Given the description of an element on the screen output the (x, y) to click on. 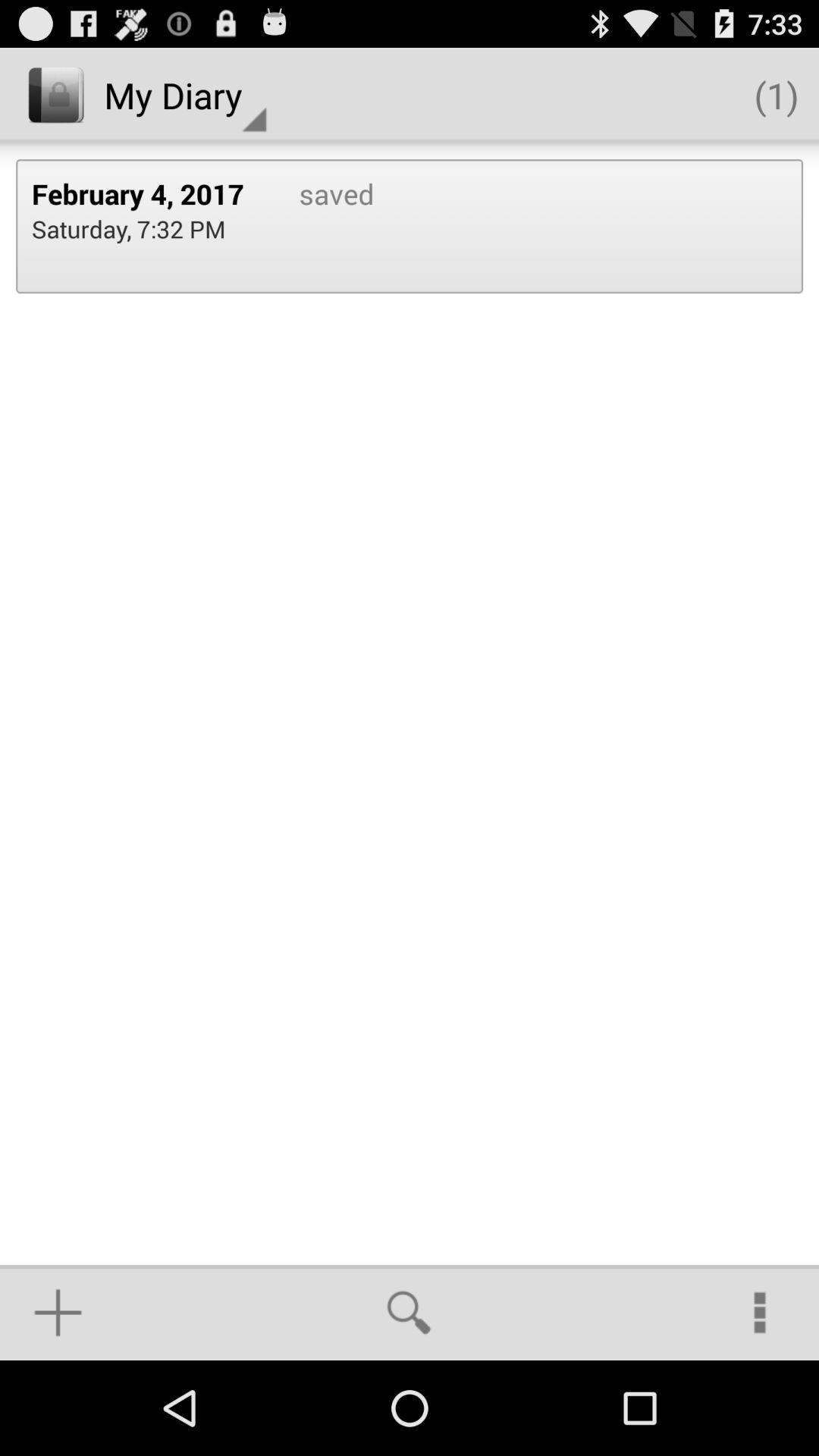
click app at the top (320, 226)
